Given the description of an element on the screen output the (x, y) to click on. 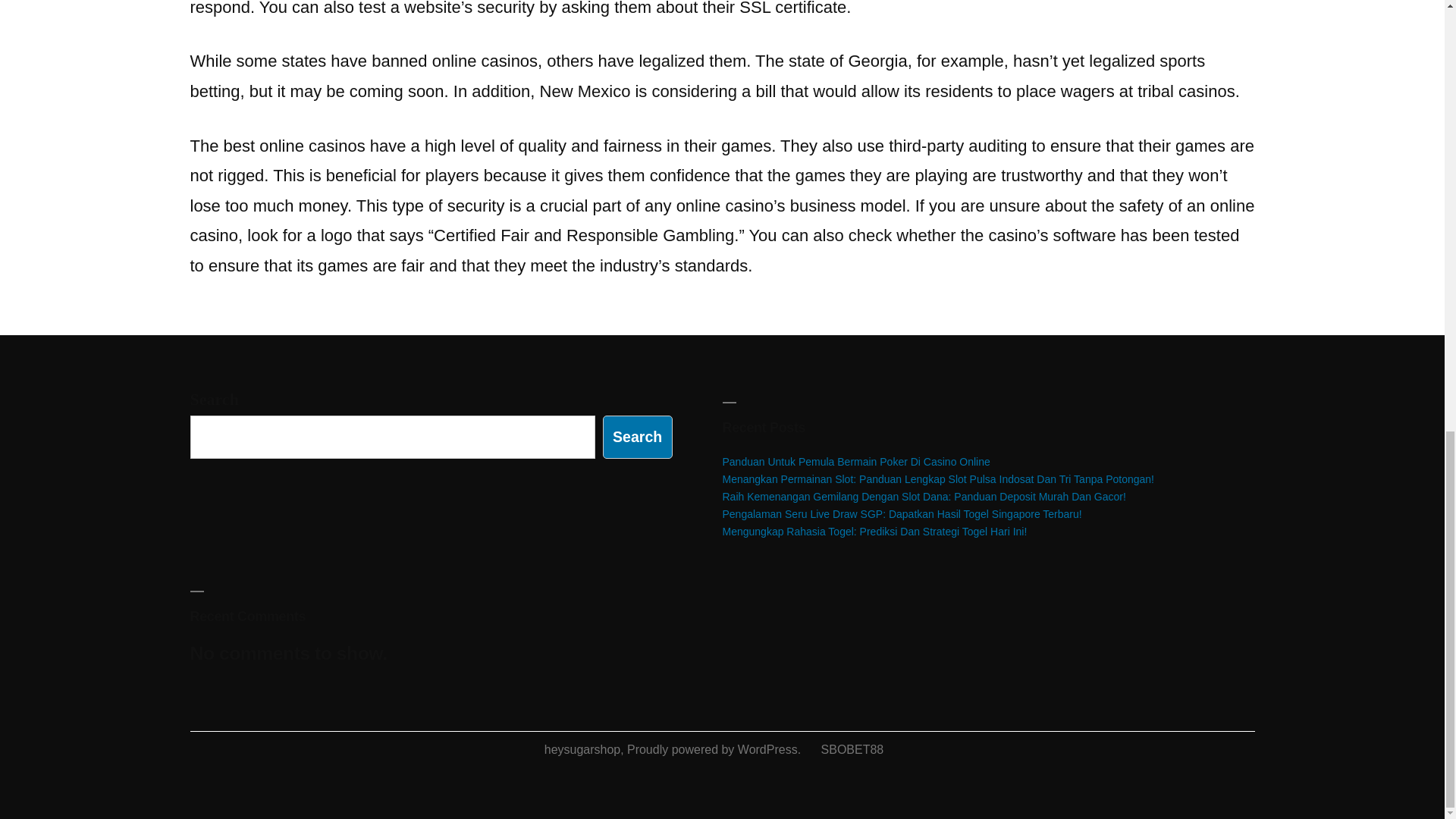
Proudly powered by WordPress. (716, 748)
heysugarshop (582, 748)
Panduan Untuk Pemula Bermain Poker Di Casino Online (856, 461)
SBOBET88 (852, 748)
Search (637, 436)
